Given the description of an element on the screen output the (x, y) to click on. 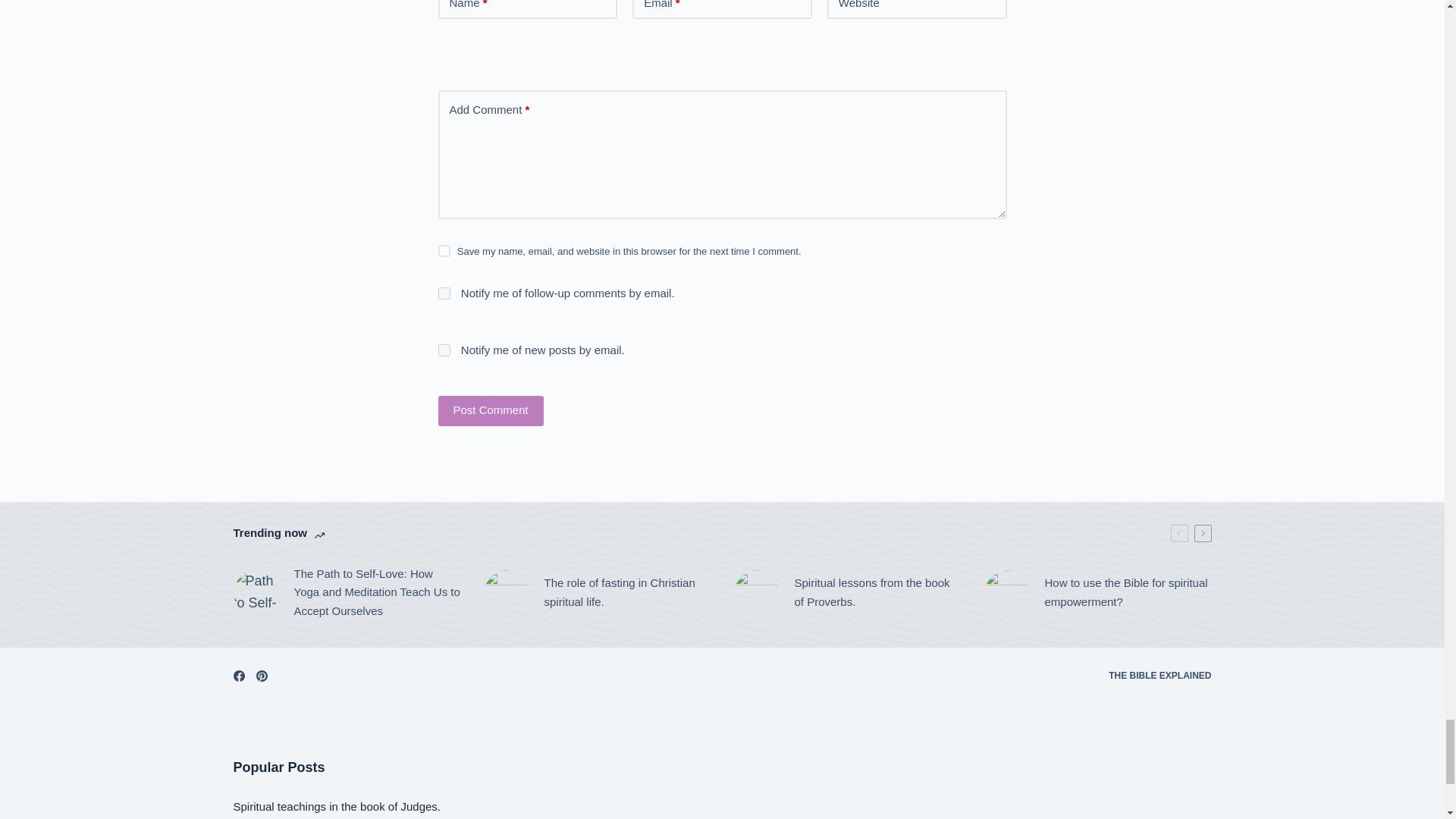
subscribe (443, 293)
yes (443, 250)
The role of fasting in Christian spiritual life. (597, 592)
subscribe (443, 349)
Spiritual lessons from the book of Proverbs. (846, 592)
Post Comment (490, 410)
